Given the description of an element on the screen output the (x, y) to click on. 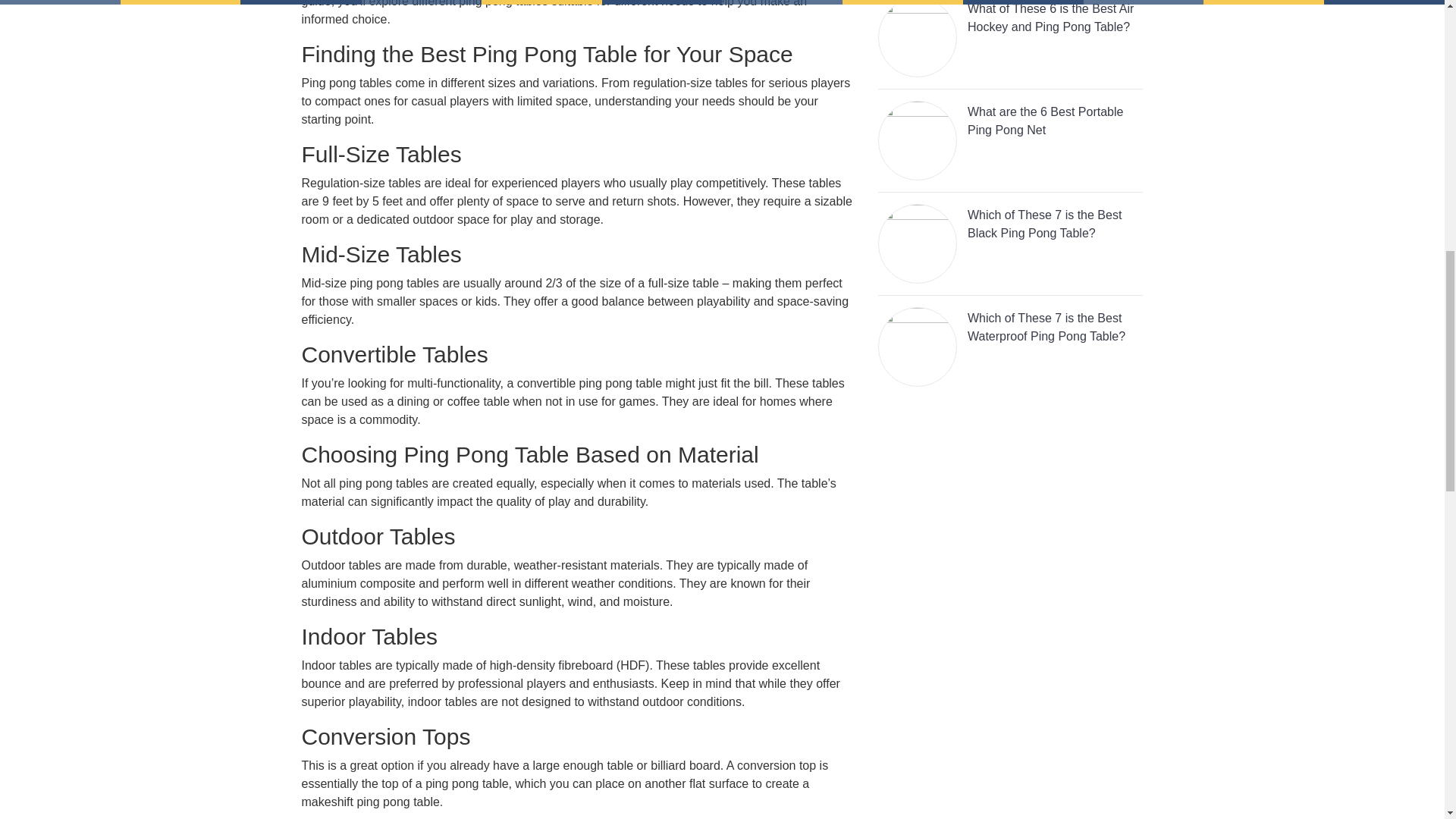
Which of These 7 is the Best Waterproof Ping Pong Table? (1009, 352)
What of These 6 is the Best Air Hockey and Ping Pong Table? (1009, 44)
Which of These 7 is the Best Black Ping Pong Table? (1009, 249)
What are the 6 Best Portable Ping Pong Net (1009, 146)
